Given the description of an element on the screen output the (x, y) to click on. 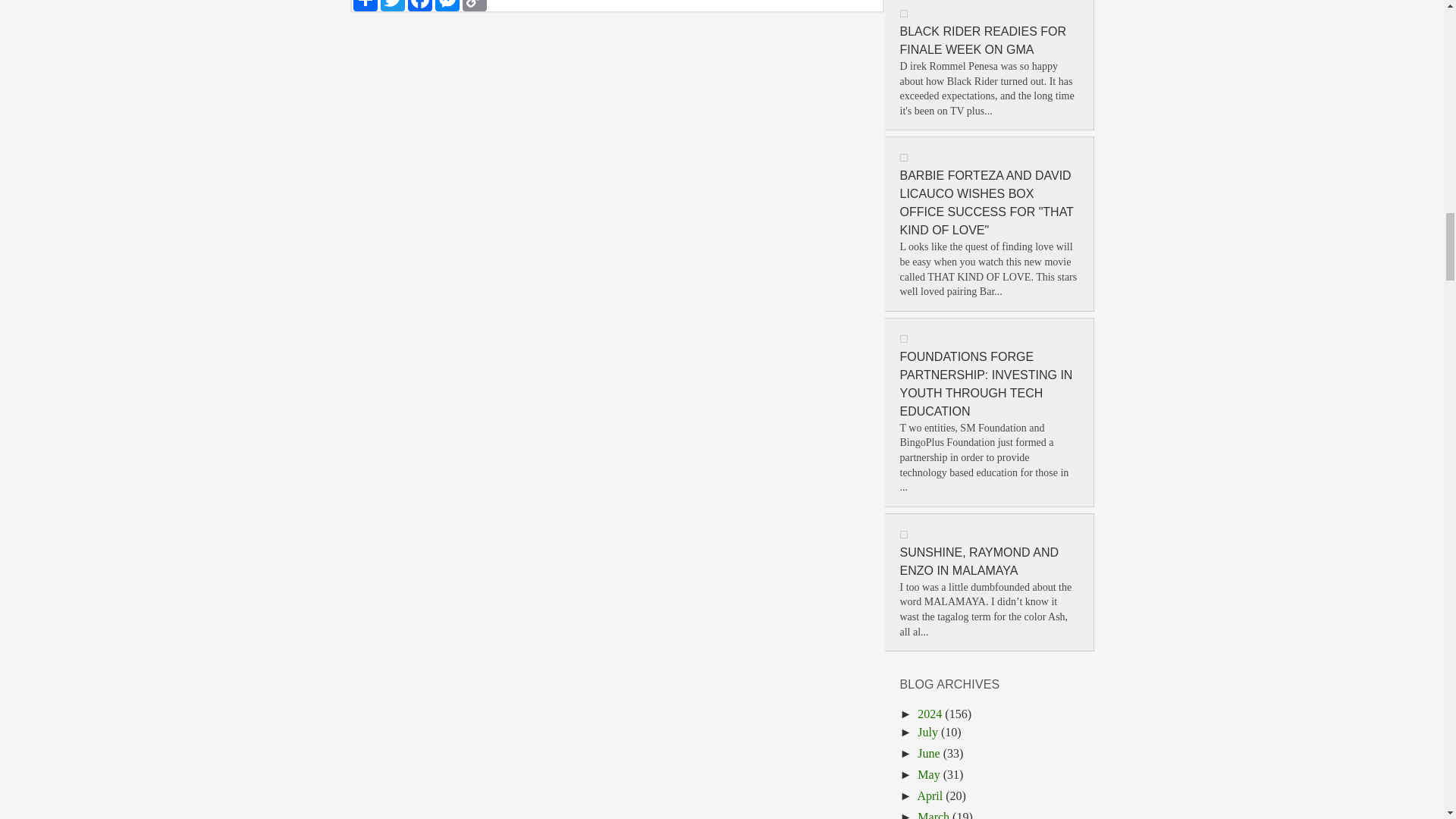
Facebook (419, 5)
Messenger (447, 5)
Twitter (392, 5)
Copy Link (474, 5)
